Given the description of an element on the screen output the (x, y) to click on. 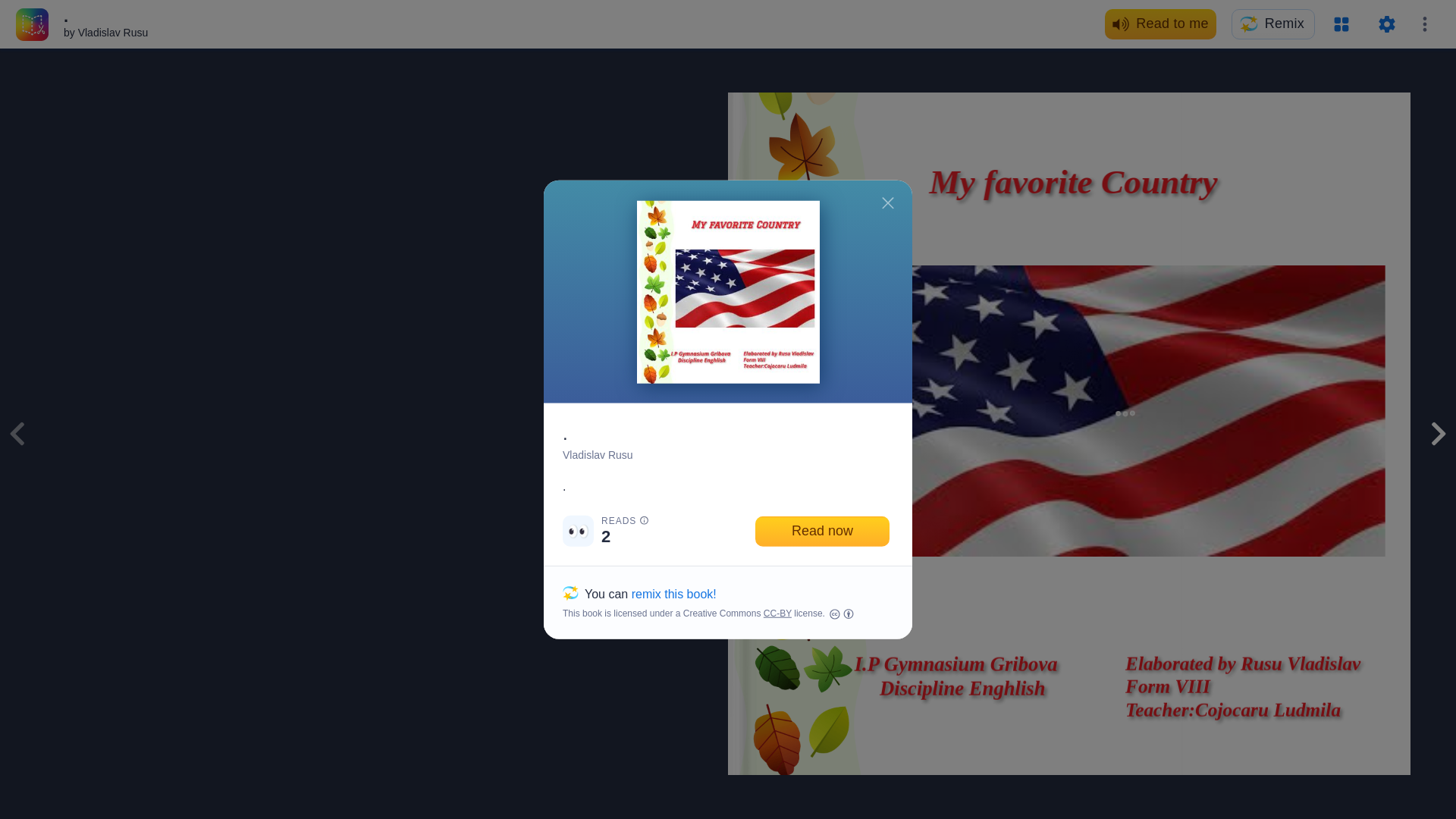
Settings (1386, 24)
Read to me (1160, 24)
Book Creator (32, 23)
Remix (1272, 24)
Go to Book Creator website (32, 23)
Read now (822, 530)
Remix (1272, 24)
Pages (1341, 24)
remix this book! (673, 593)
CC-BY (777, 613)
Menu (1424, 24)
